Given the description of an element on the screen output the (x, y) to click on. 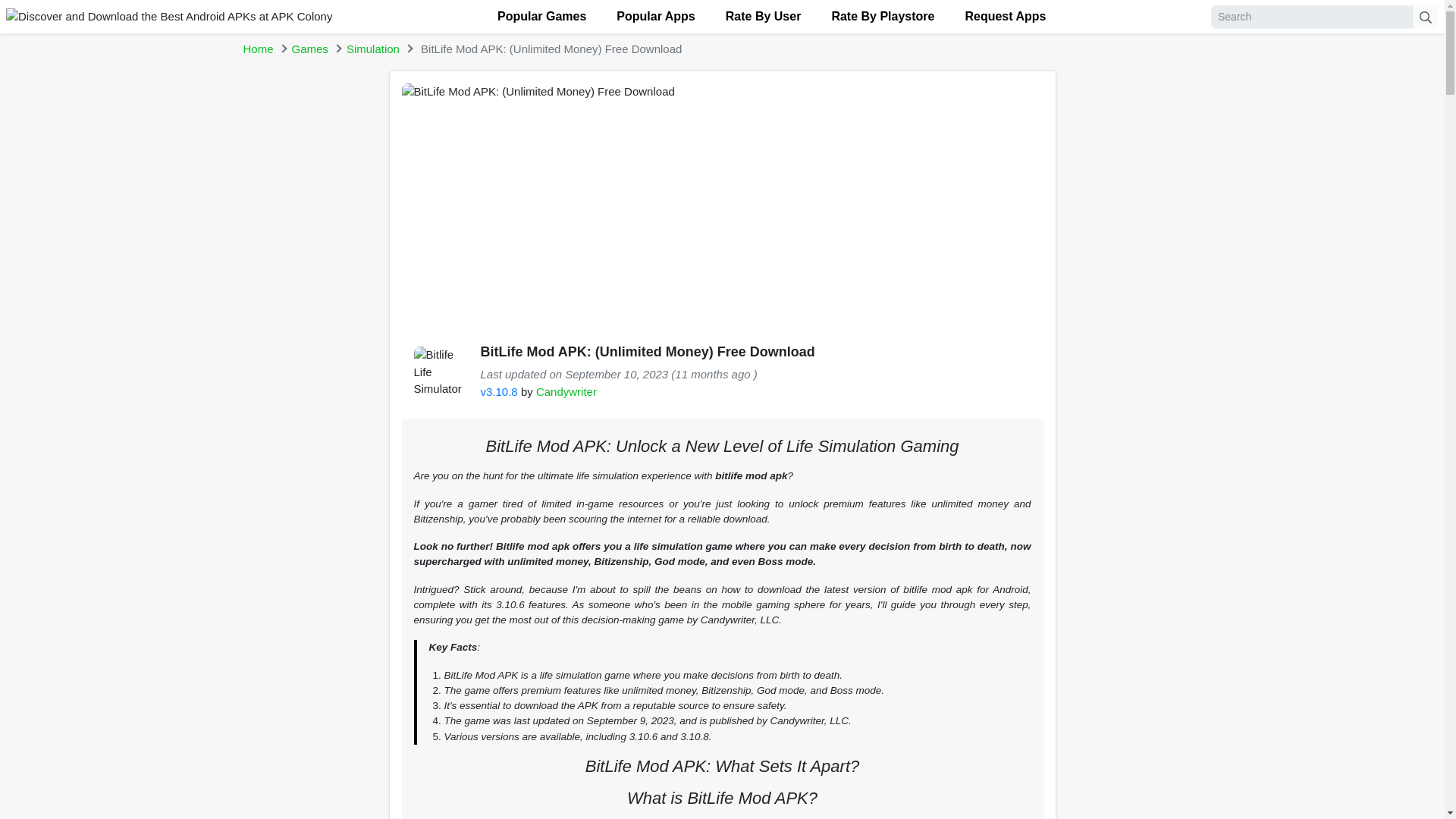
Rate By User (763, 16)
Simulation (372, 48)
Rate By Playstore (882, 16)
Games (310, 48)
Home (258, 48)
Request Apps (1005, 16)
Candywriter (565, 391)
Developer by Candywriter (565, 391)
Home (258, 48)
Popular Games (541, 16)
